Given the description of an element on the screen output the (x, y) to click on. 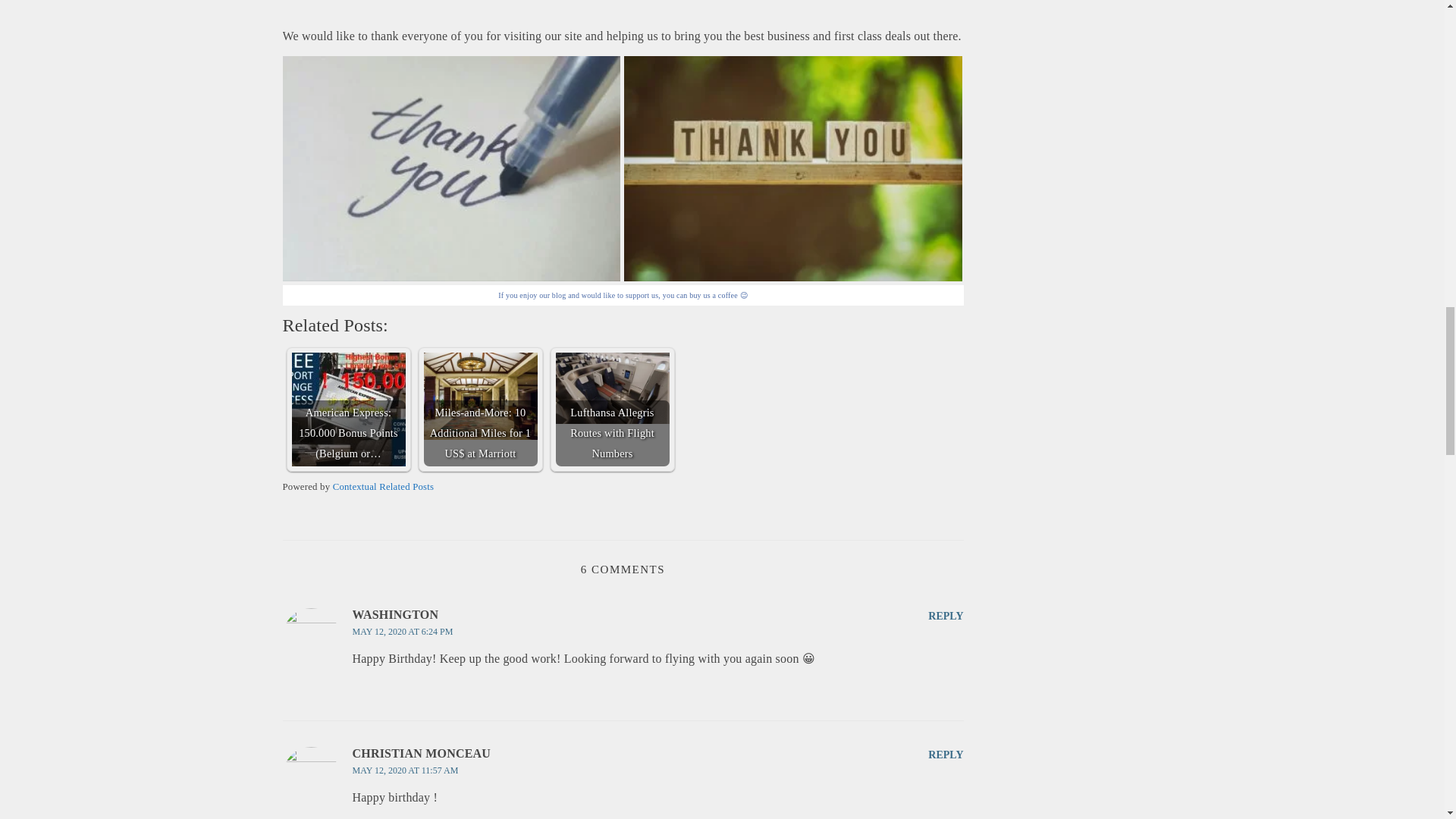
Contextual Related Posts (383, 486)
Lufthansa Allegris Routes with Flight Numbers (611, 409)
Lufthansa Allegris Routes with Flight Numbers (611, 388)
MAY 12, 2020 AT 6:24 PM (402, 631)
